Given the description of an element on the screen output the (x, y) to click on. 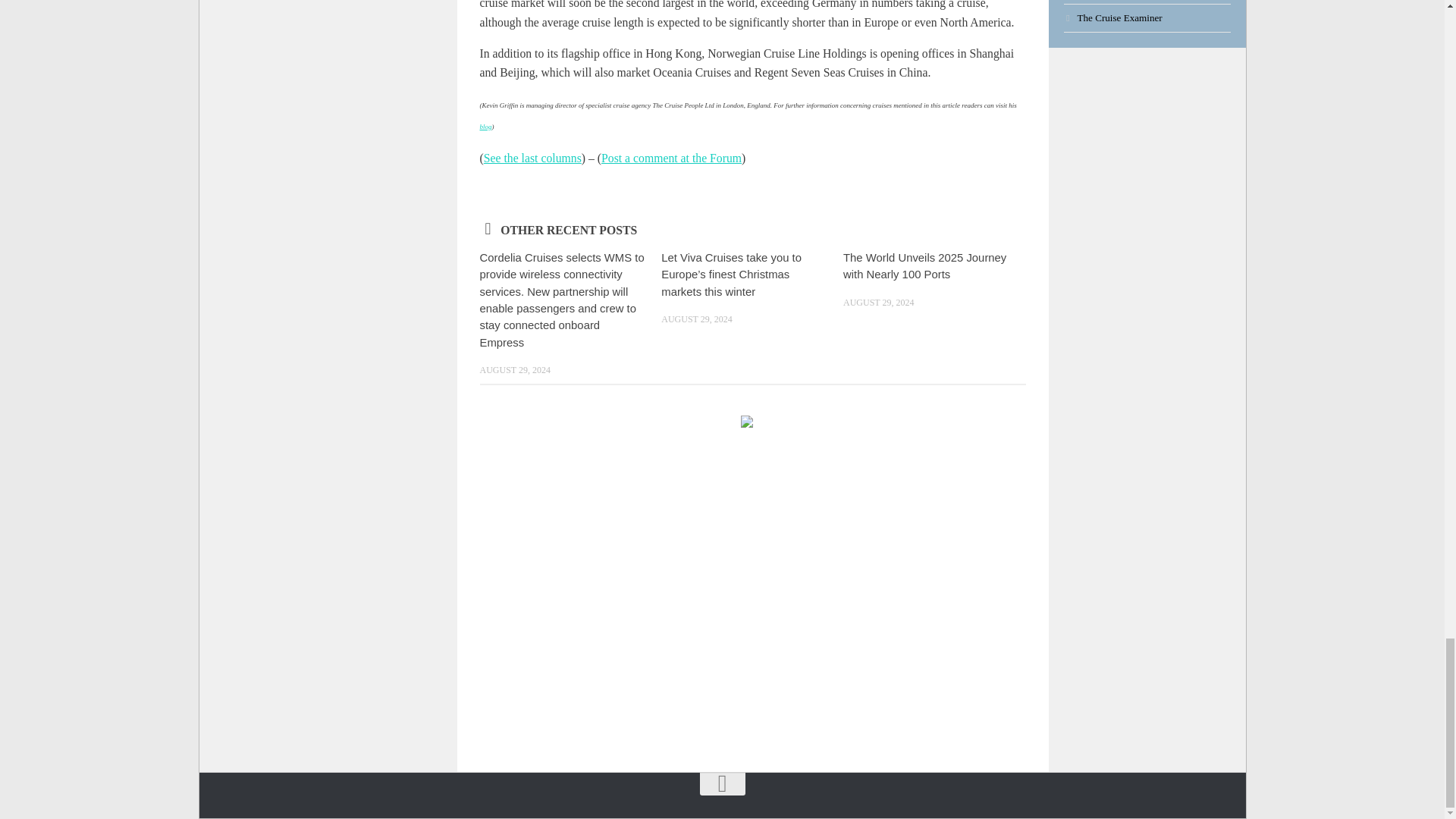
Post a comment at the Forum (671, 157)
blog (485, 126)
See the last columns (531, 157)
The World Unveils 2025 Journey with Nearly 100 Ports (924, 265)
